Given the description of an element on the screen output the (x, y) to click on. 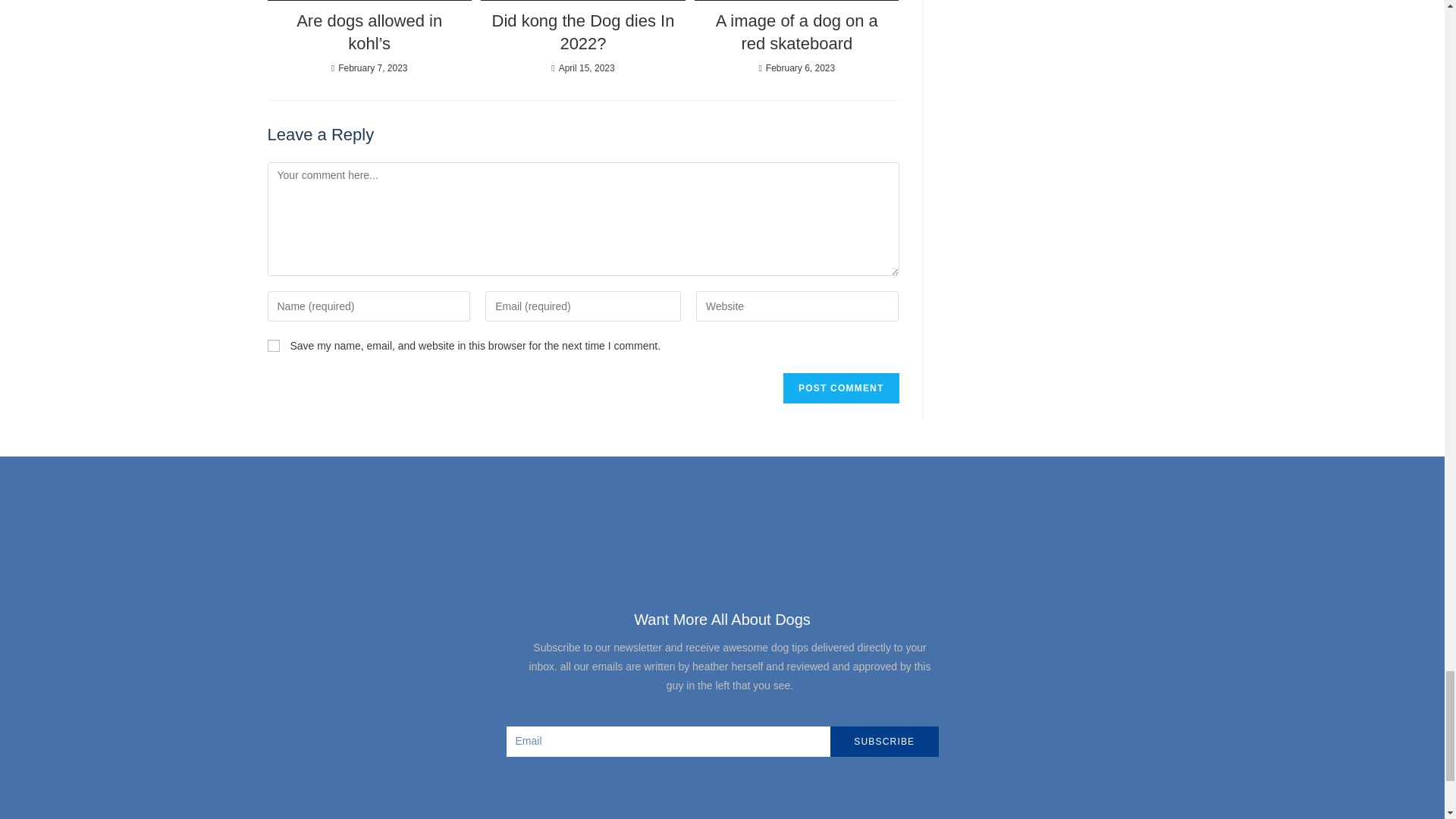
Post Comment (840, 388)
Did kong the Dog dies In 2022? (582, 32)
A image of a dog on a red skateboard (796, 32)
Post Comment (840, 388)
yes (272, 345)
